Given the description of an element on the screen output the (x, y) to click on. 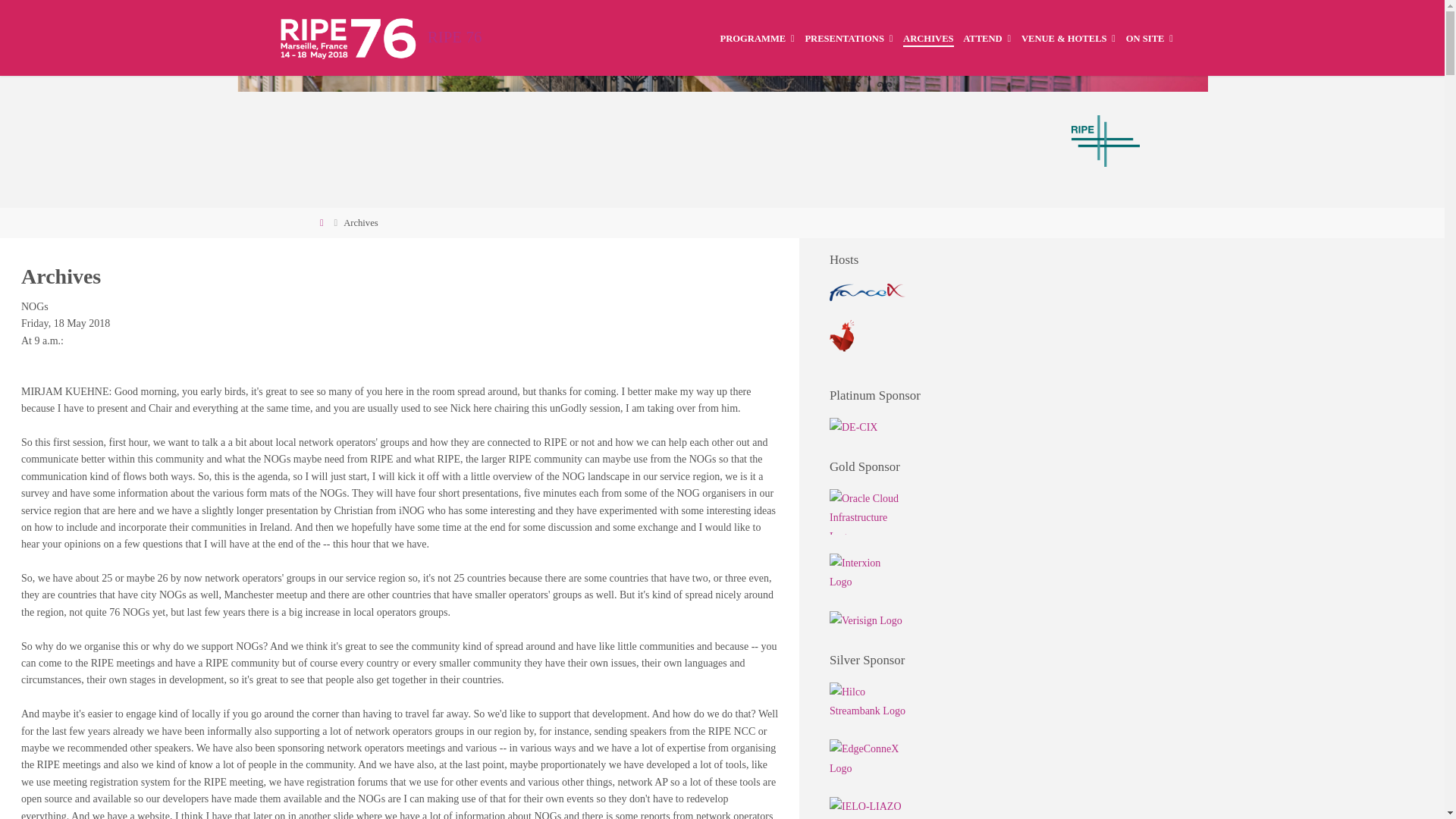
Skip to content (731, 55)
Home (321, 222)
